Given the description of an element on the screen output the (x, y) to click on. 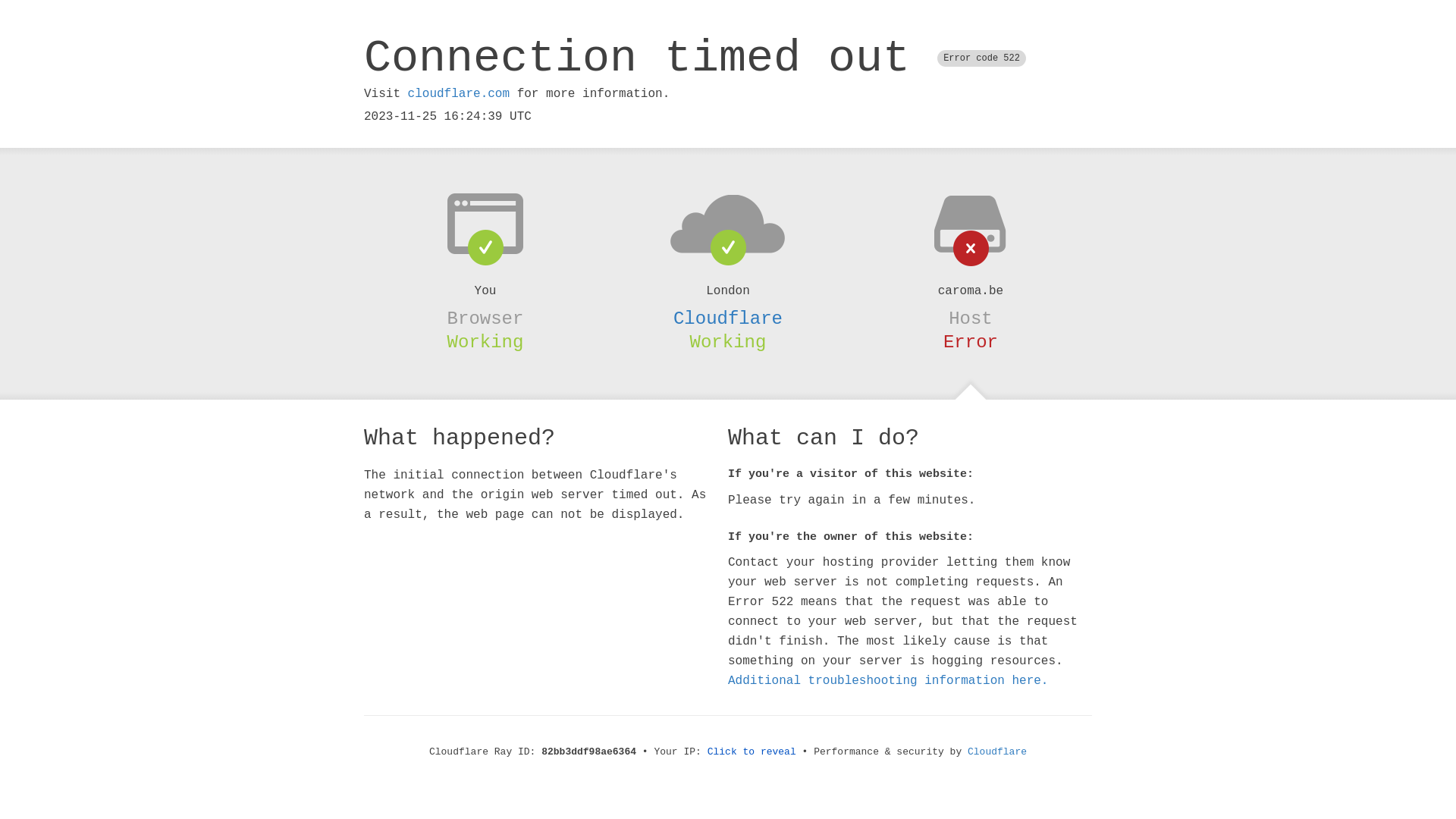
Additional troubleshooting information here. Element type: text (888, 680)
Cloudflare Element type: text (727, 318)
Click to reveal Element type: text (751, 751)
cloudflare.com Element type: text (458, 93)
Cloudflare Element type: text (996, 751)
